Given the description of an element on the screen output the (x, y) to click on. 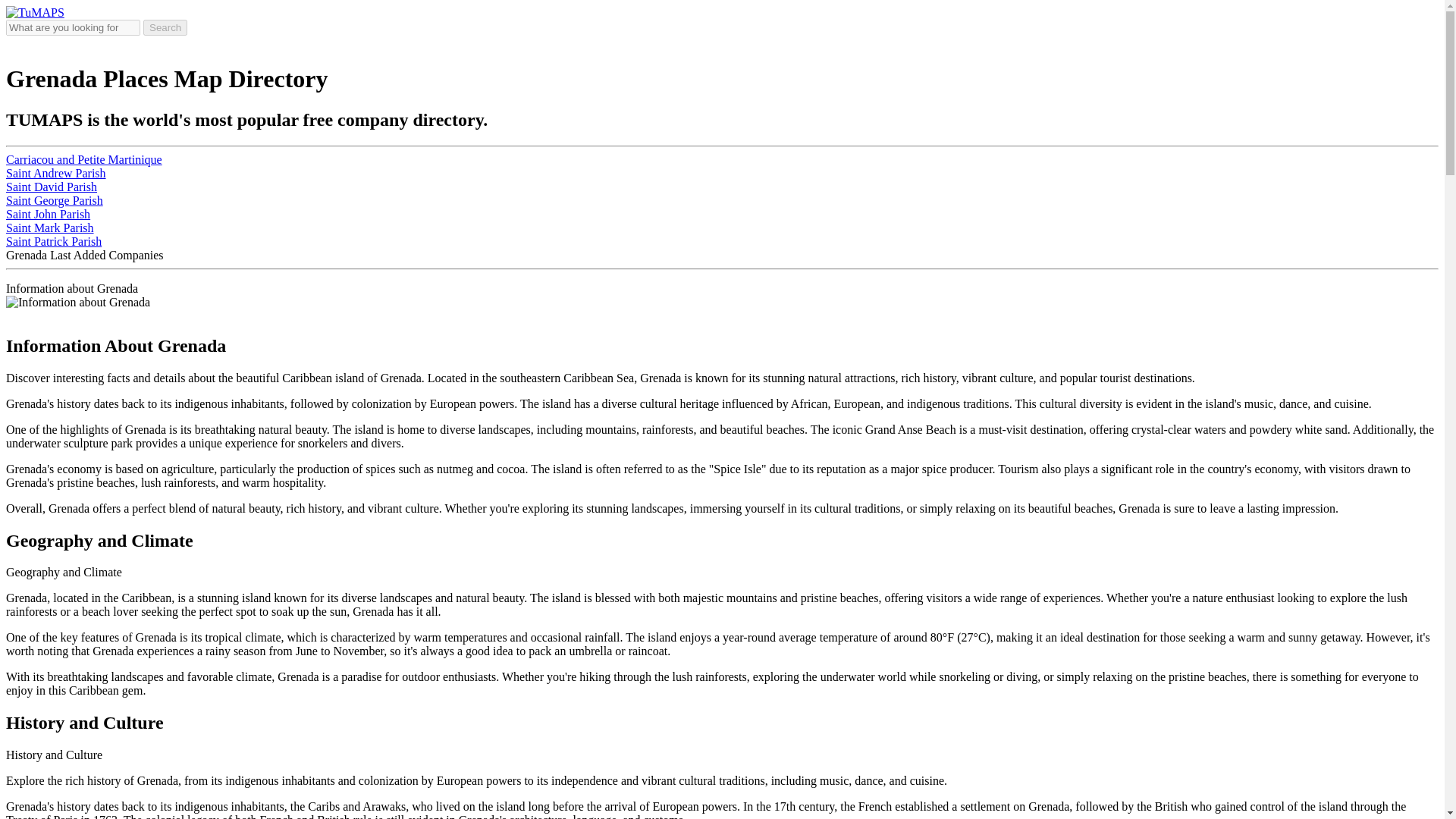
Search (164, 27)
TuMAPS (34, 11)
